Given the description of an element on the screen output the (x, y) to click on. 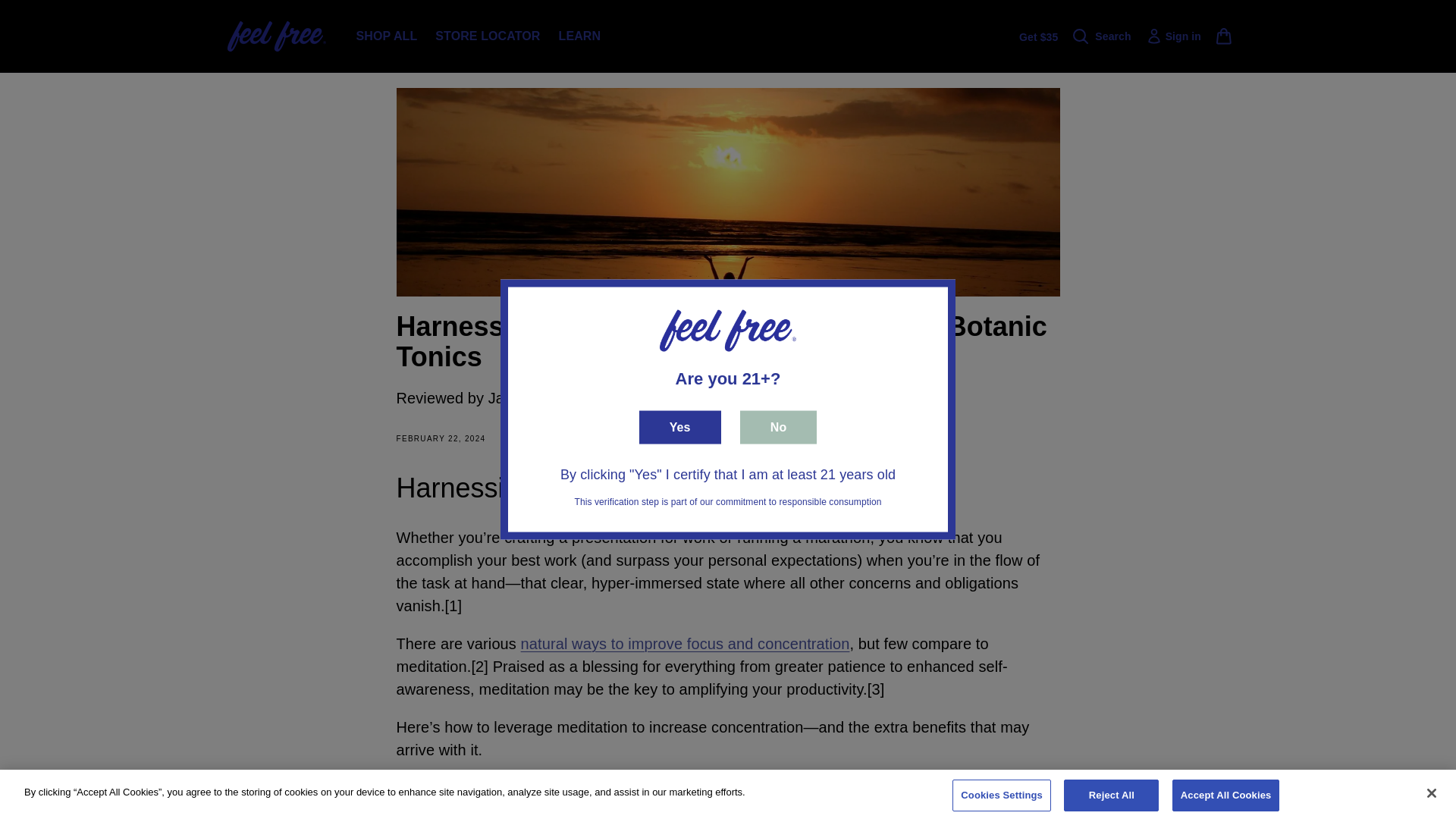
Log in (1181, 36)
STORE LOCATOR (487, 35)
SHOP ALL (386, 35)
LEARN (580, 35)
Skip to content (45, 17)
